Given the description of an element on the screen output the (x, y) to click on. 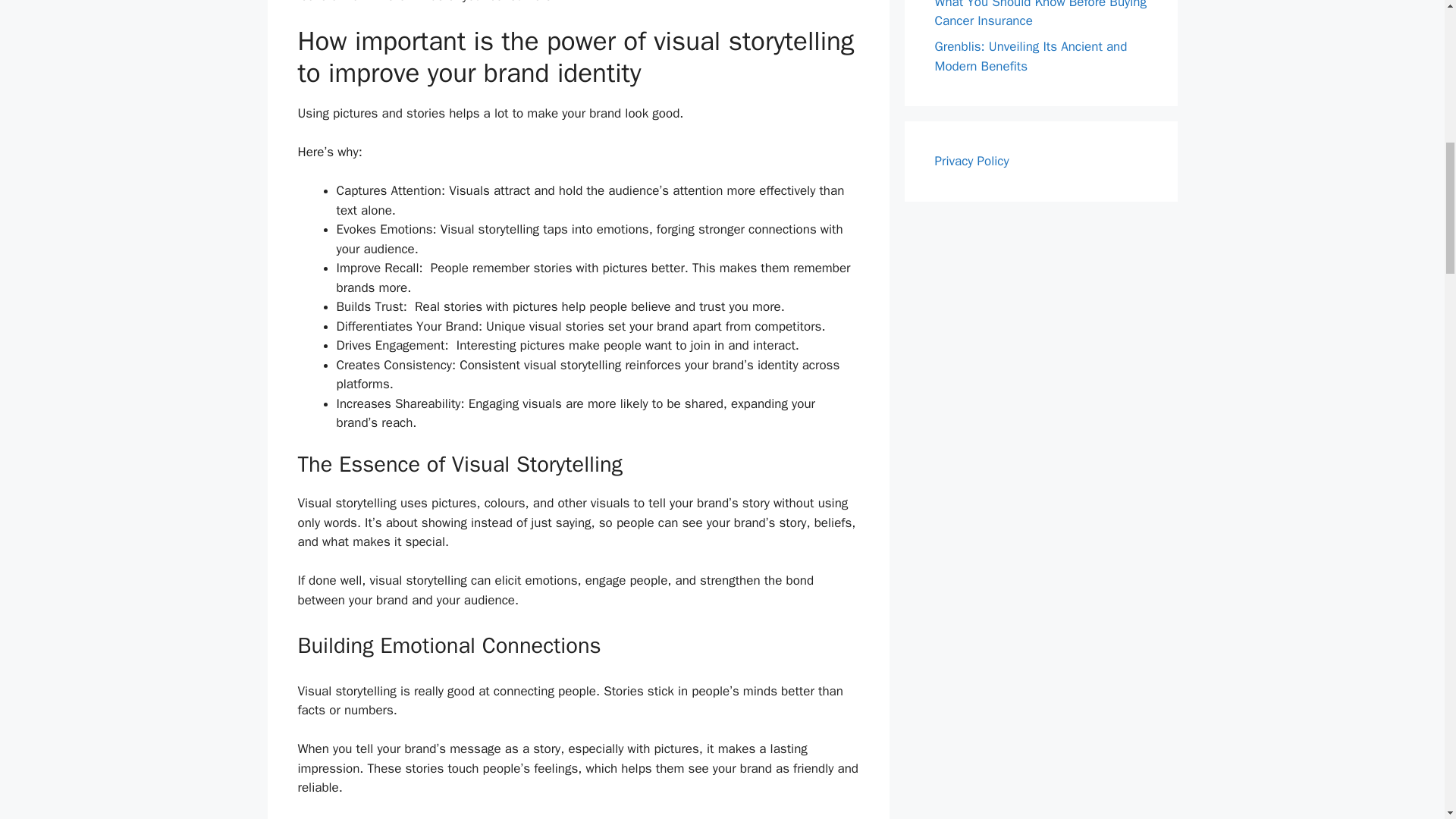
Privacy Policy (971, 160)
Grenblis: Unveiling Its Ancient and Modern Benefits (1030, 56)
What You Should Know Before Buying Cancer Insurance (1039, 14)
